Given the description of an element on the screen output the (x, y) to click on. 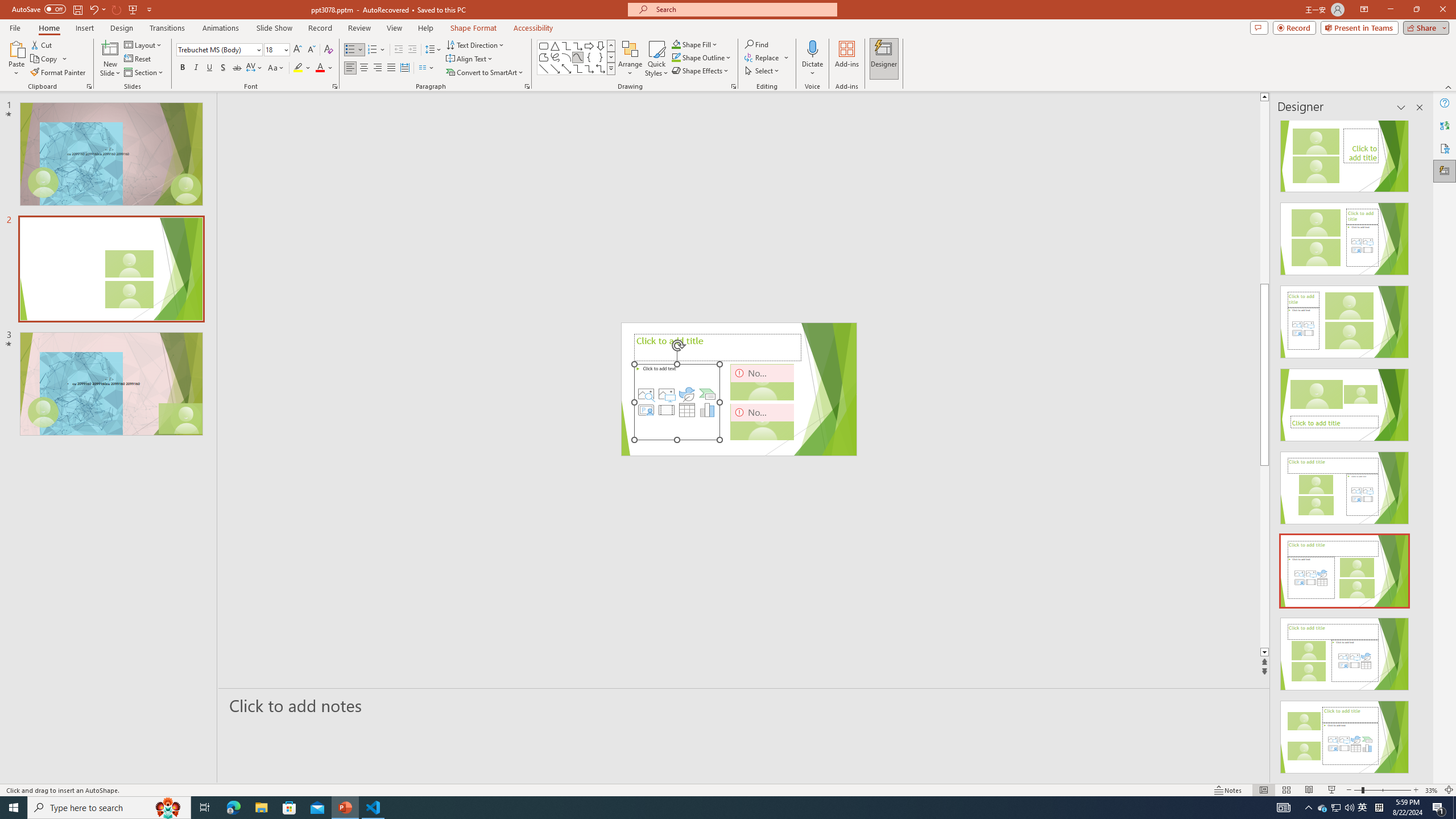
Class: NetUIScrollBar (1418, 447)
